Given the description of an element on the screen output the (x, y) to click on. 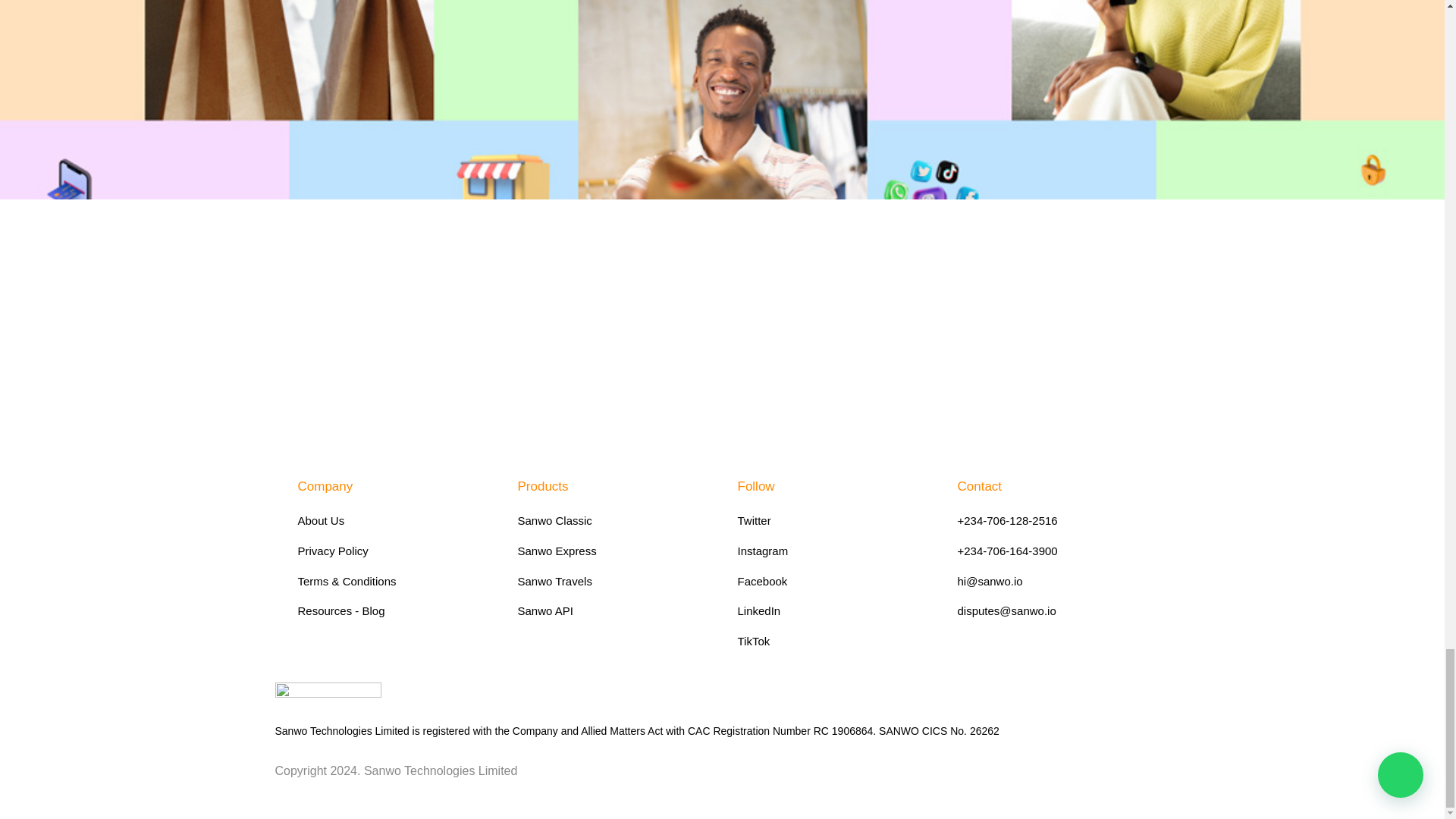
Privacy Policy (391, 550)
Twitter (831, 520)
TikTok (831, 640)
Facebook (831, 581)
Resources - Blog (391, 610)
About Us (391, 520)
Instagram (831, 550)
LinkedIn (831, 610)
Sanwo Express (611, 550)
Sanwo API (611, 610)
Sanwo Travels (611, 581)
Sanwo Classic (611, 520)
